Given the description of an element on the screen output the (x, y) to click on. 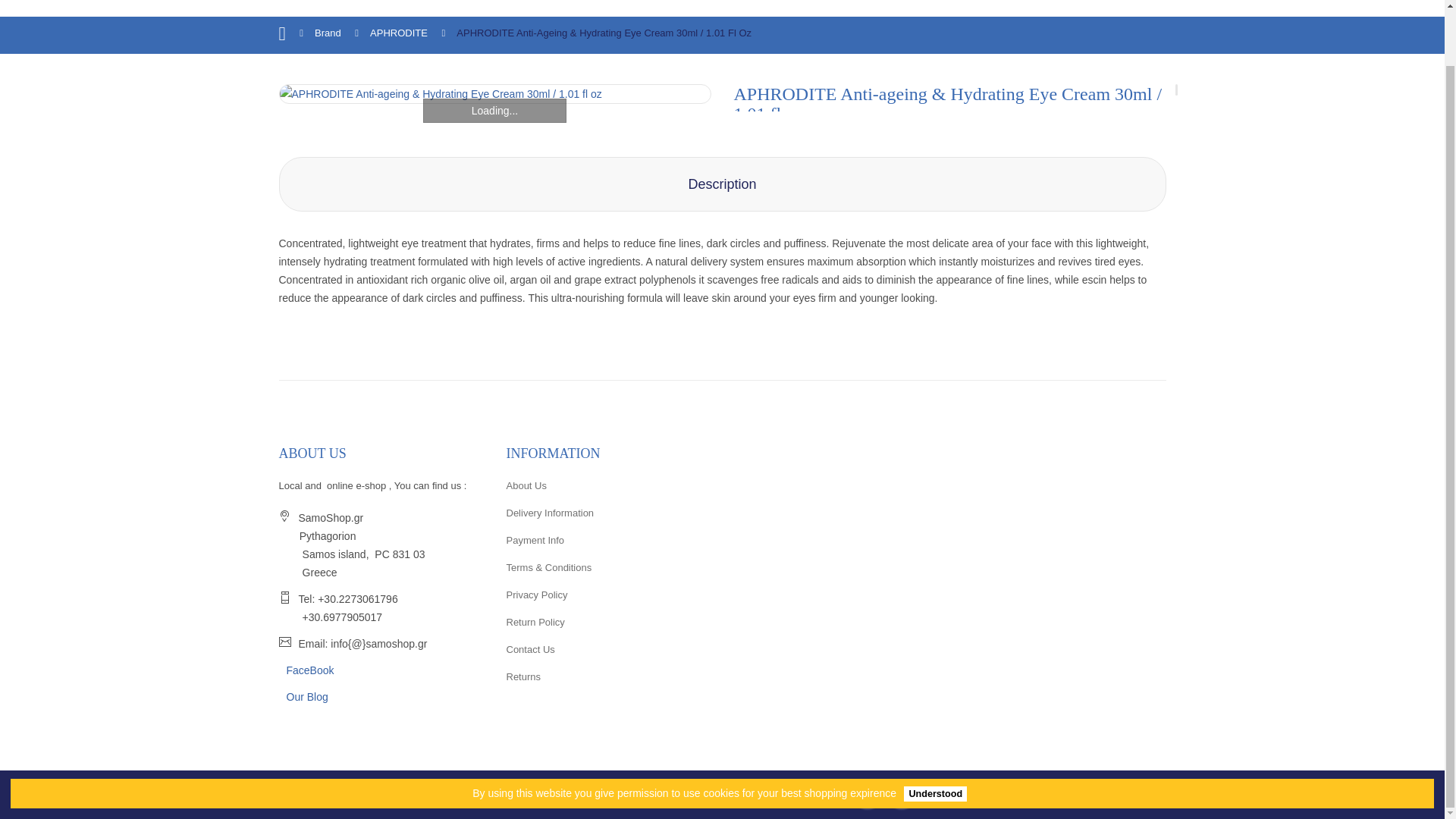
1 (783, 320)
Compare this Product (944, 371)
Facebook (901, 794)
Add to Wish List (902, 371)
